Given the description of an element on the screen output the (x, y) to click on. 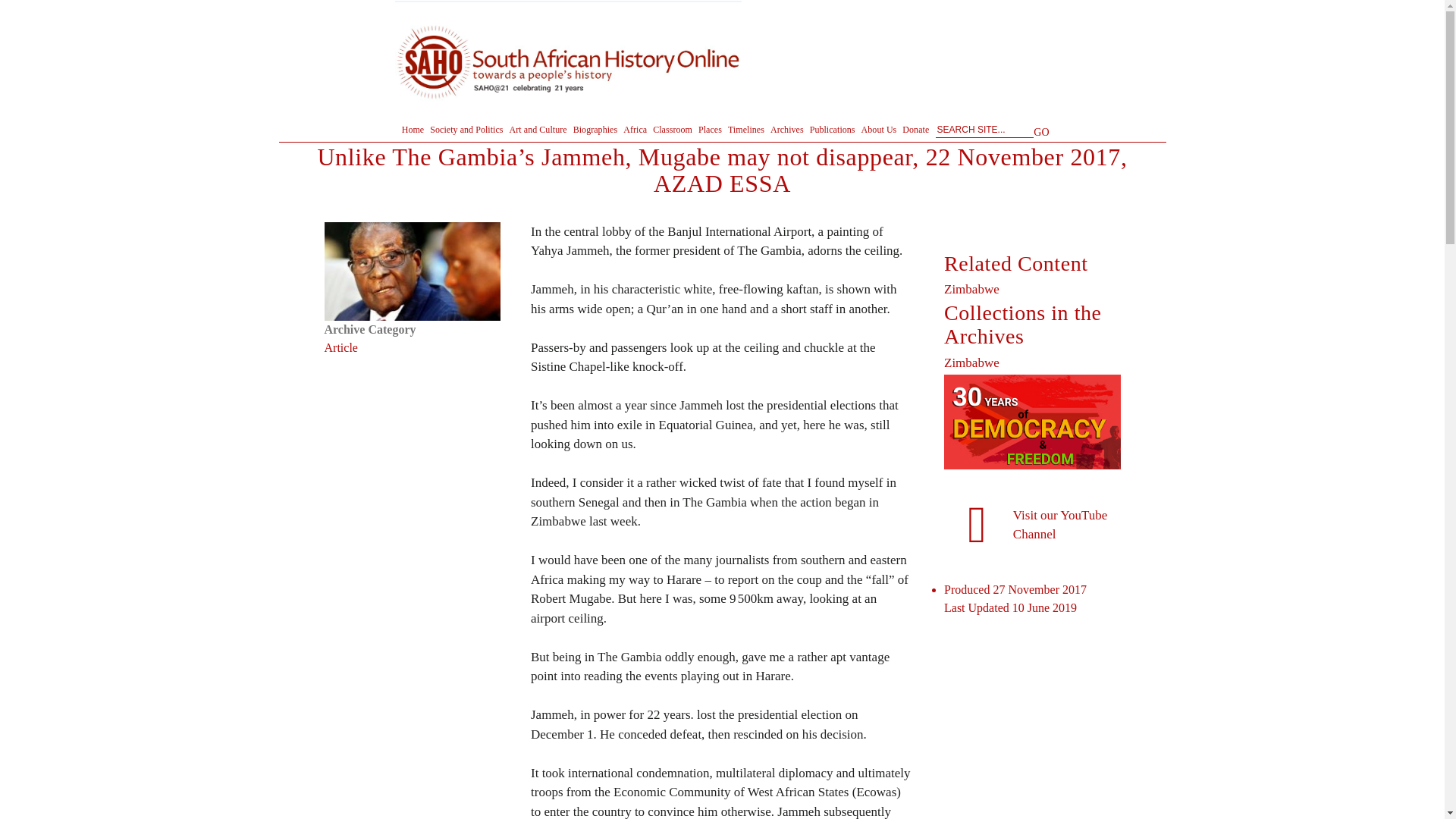
Classroom (672, 129)
Biographies (595, 129)
Archives (786, 129)
Home (413, 129)
Donate (915, 129)
Publications (832, 129)
Timelines (746, 129)
Africa (634, 129)
Zimbabwe (970, 362)
